Given the description of an element on the screen output the (x, y) to click on. 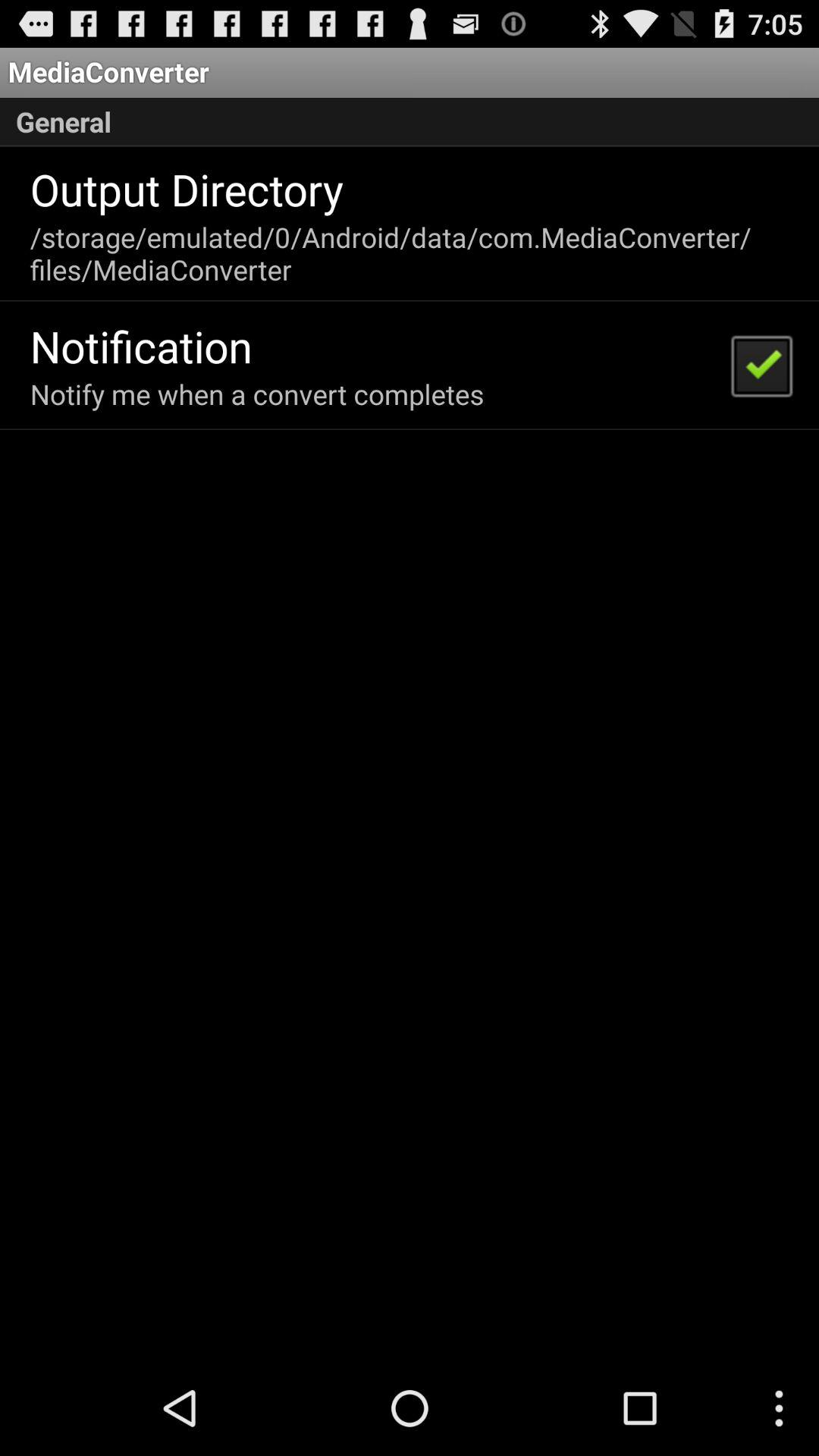
press icon below the general (186, 188)
